Given the description of an element on the screen output the (x, y) to click on. 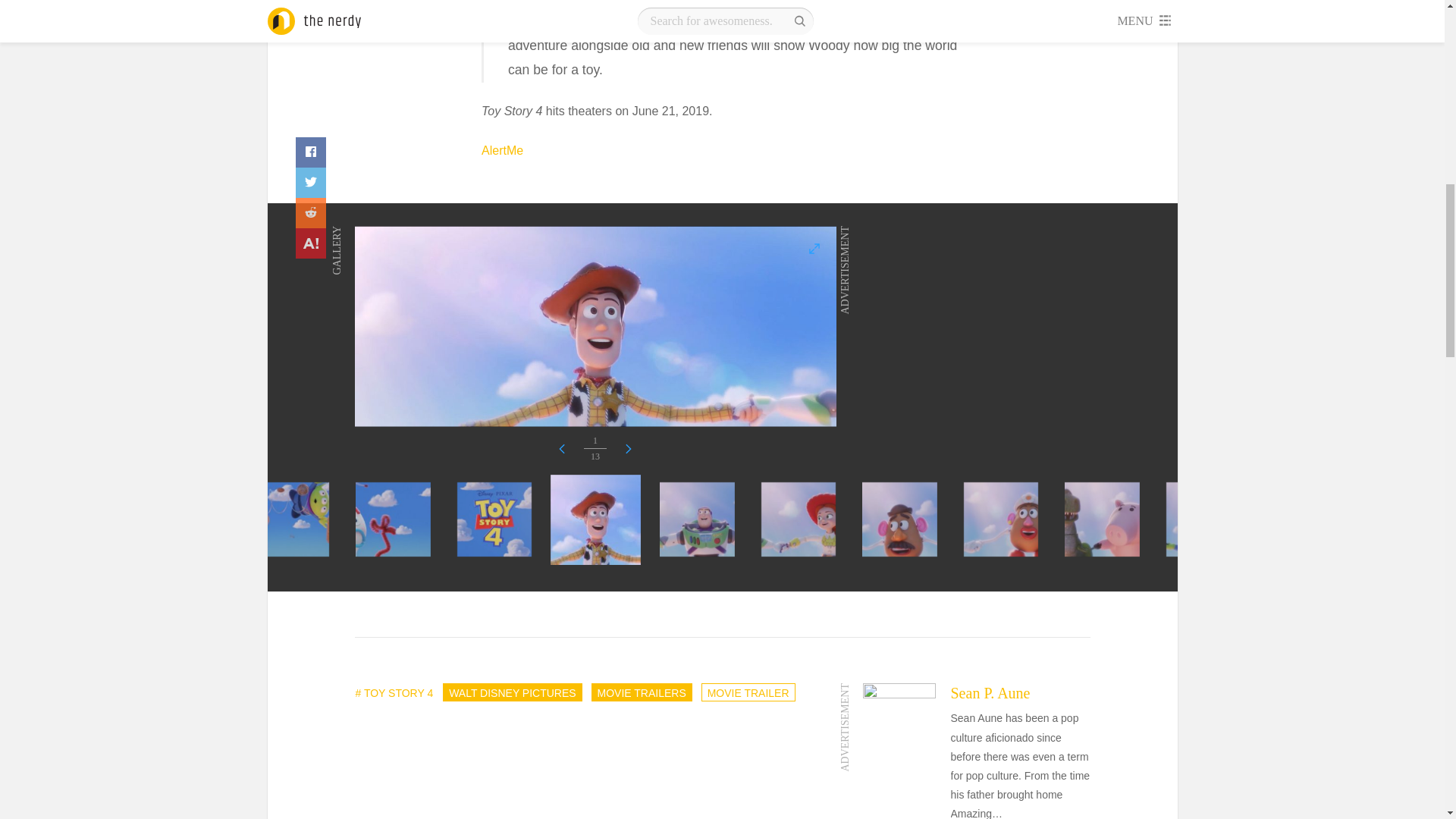
AlertMe (501, 150)
